Given the description of an element on the screen output the (x, y) to click on. 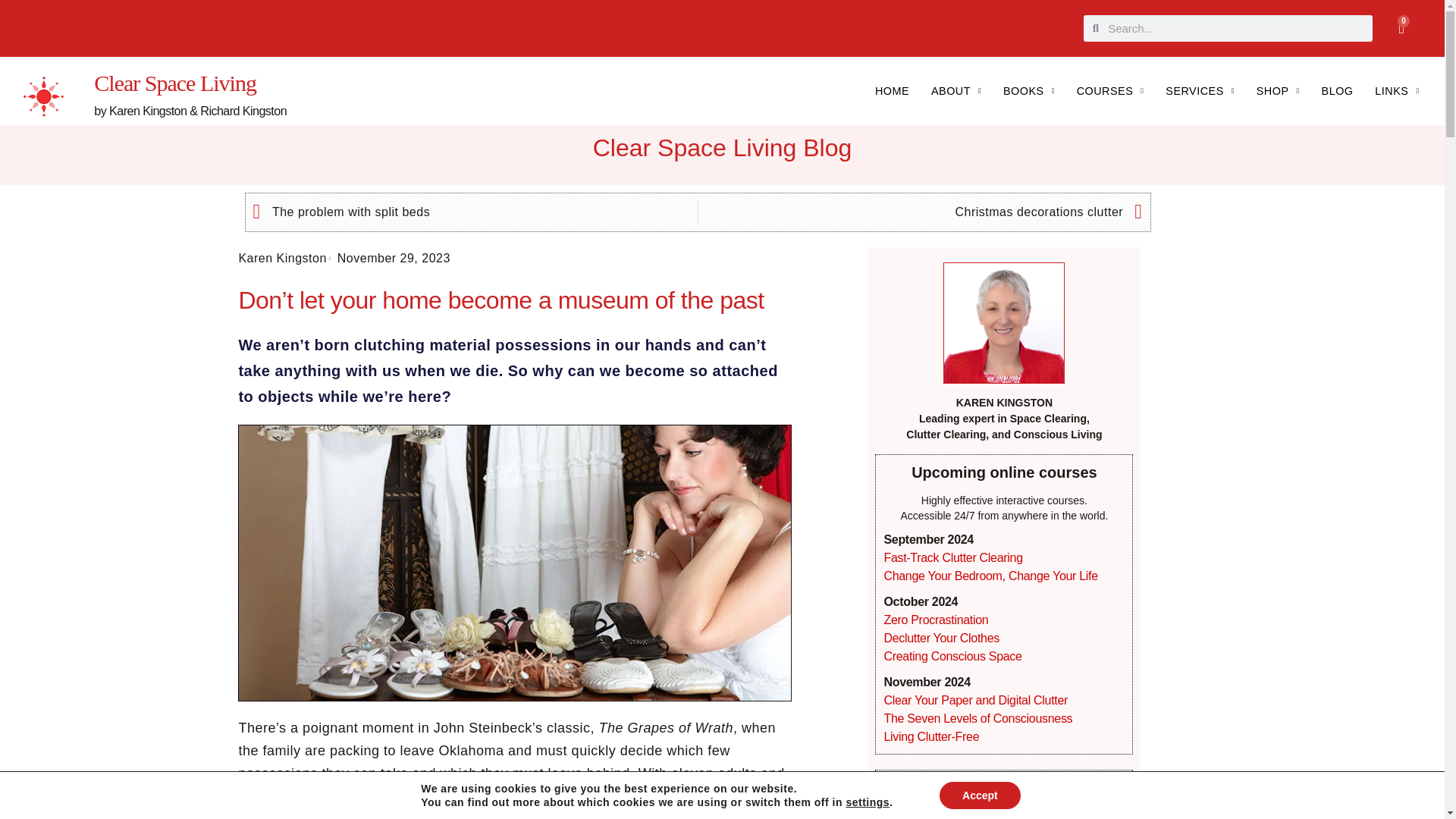
LINKS (1396, 90)
ABOUT (956, 90)
BOOKS (1028, 90)
HOME (892, 90)
BLOG (1401, 28)
COURSES (1337, 90)
SERVICES (1109, 90)
SHOP (1199, 90)
Clear Space Living (1277, 90)
